Given the description of an element on the screen output the (x, y) to click on. 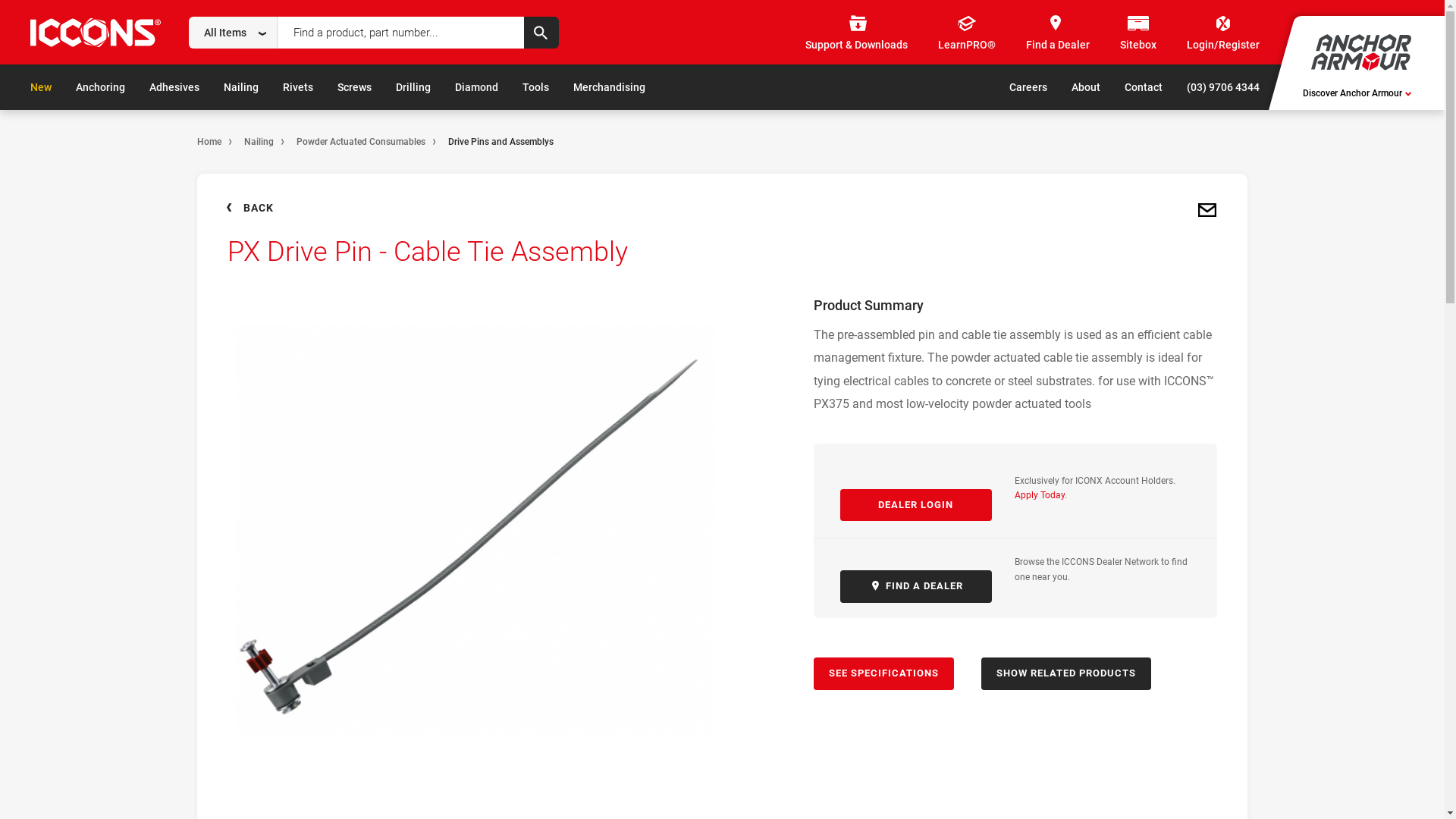
Home Element type: text (209, 141)
SEE SPECIFICATIONS Element type: text (882, 673)
New Element type: text (40, 86)
Dealer Benefits Element type: text (669, 88)
Adhesives Element type: text (174, 86)
Apply Today Element type: text (1039, 494)
SHOW RELATED PRODUCTS Element type: text (1066, 673)
BACK Element type: text (250, 207)
Find a Dealer Element type: text (1057, 32)
SAVE Element type: text (773, 18)
I am a
Trade Element type: text (72, 88)
Share by Email Element type: hover (1207, 210)
Nailing Element type: text (258, 141)
Login/Register Element type: text (1222, 32)
ICCONS - The serious fixings wholesaler Element type: hover (95, 35)
Powder Actuated Consumables Element type: text (360, 141)
EXPLORE THE ANCHOR ARMOUR RANGE Element type: text (1304, 88)
DEALER LOGIN Element type: text (915, 505)
DesignPRO Element type: text (318, 88)
Drive Pins and Assemblys Element type: text (500, 141)
Sitebox Element type: text (1138, 32)
Screws Element type: text (354, 86)
TestPRO Element type: text (385, 88)
Anchoring Element type: text (100, 86)
Find a Dealer Element type: text (523, 88)
Redeem Element type: text (594, 88)
About Element type: text (1085, 86)
(03) 9706 4344 Element type: text (1222, 86)
Discover Anchor Armour Element type: text (1356, 92)
Drilling Element type: text (412, 86)
Rivets Element type: text (297, 86)
FIND A DEALER Element type: text (915, 586)
Tools Element type: text (535, 86)
Contact Element type: text (1143, 86)
Merchandising Element type: text (609, 86)
Nailing Element type: text (240, 86)
Support & Downloads Element type: text (856, 32)
Careers Element type: text (1028, 86)
Home Element type: text (168, 88)
Diamond Element type: text (476, 86)
LearnPRO Element type: text (448, 88)
Product Range Element type: text (237, 88)
